Given the description of an element on the screen output the (x, y) to click on. 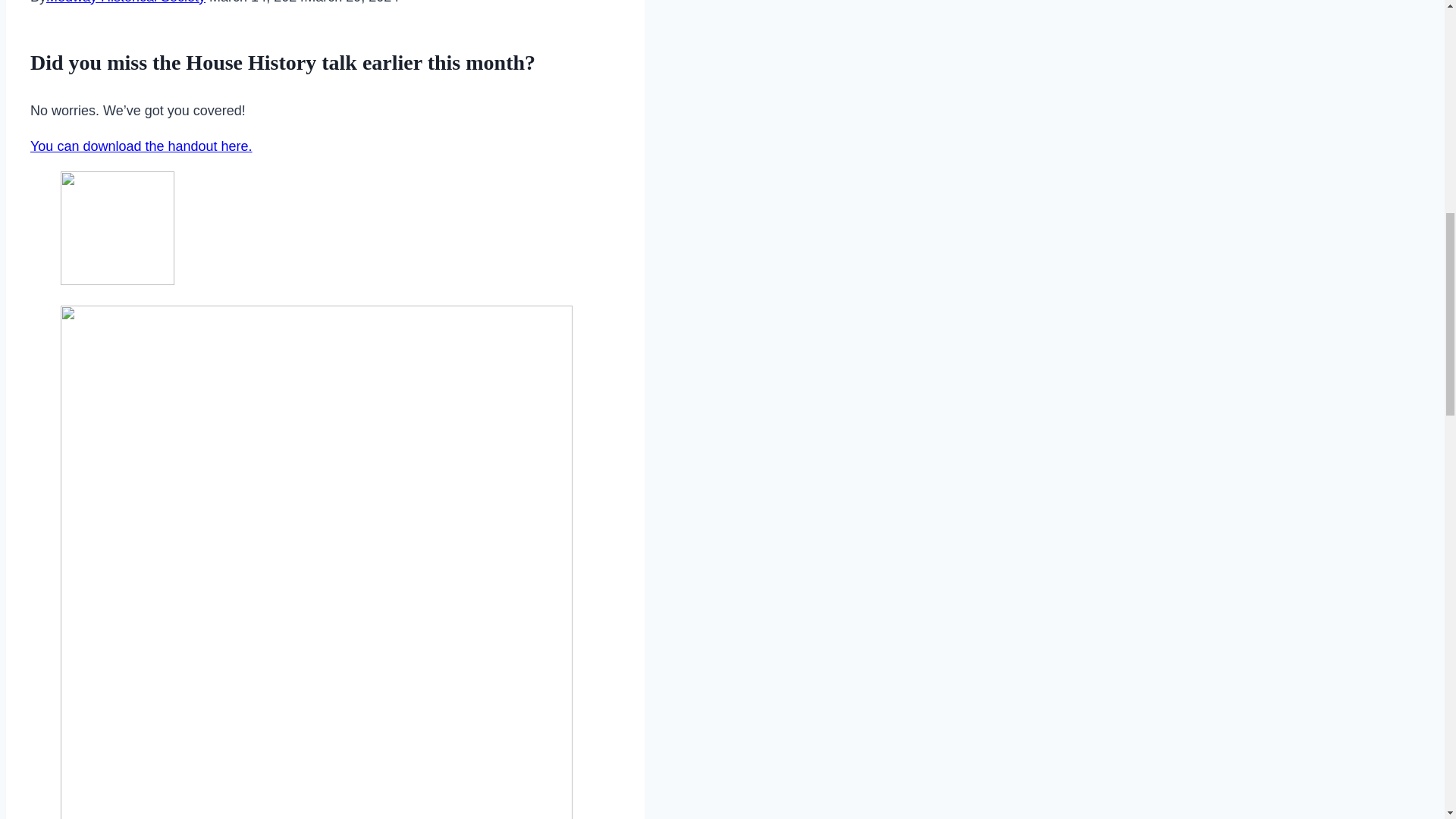
You can download the handout here. (140, 145)
Medway Historical Society (125, 2)
